Given the description of an element on the screen output the (x, y) to click on. 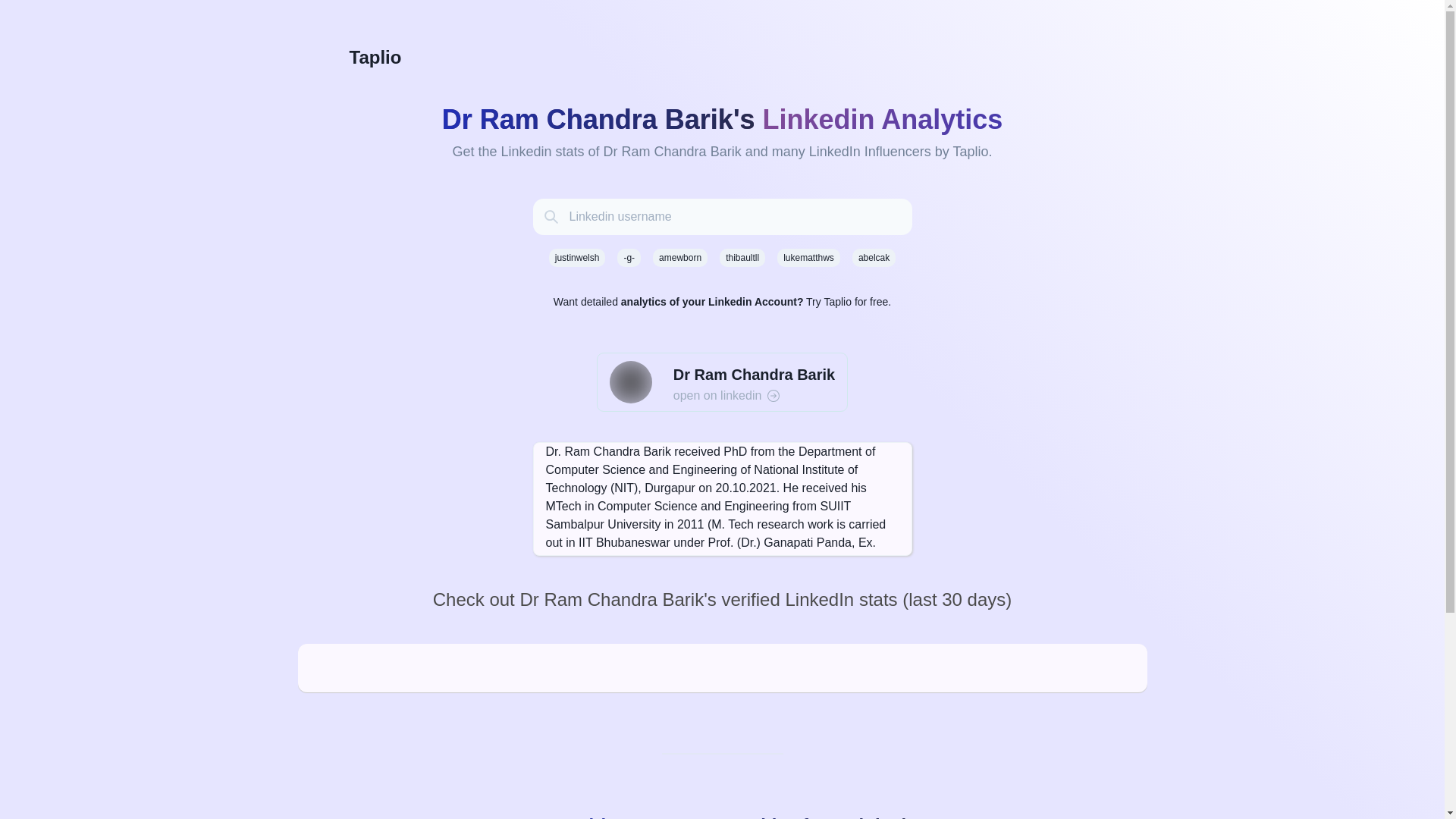
open on linkedin (753, 395)
thibaultll (742, 257)
amewborn (679, 257)
-g- (628, 257)
LinkedIn Influencers (870, 151)
abelcak (873, 257)
Taplio (721, 57)
lukematthws (808, 257)
justinwelsh (576, 257)
